Given the description of an element on the screen output the (x, y) to click on. 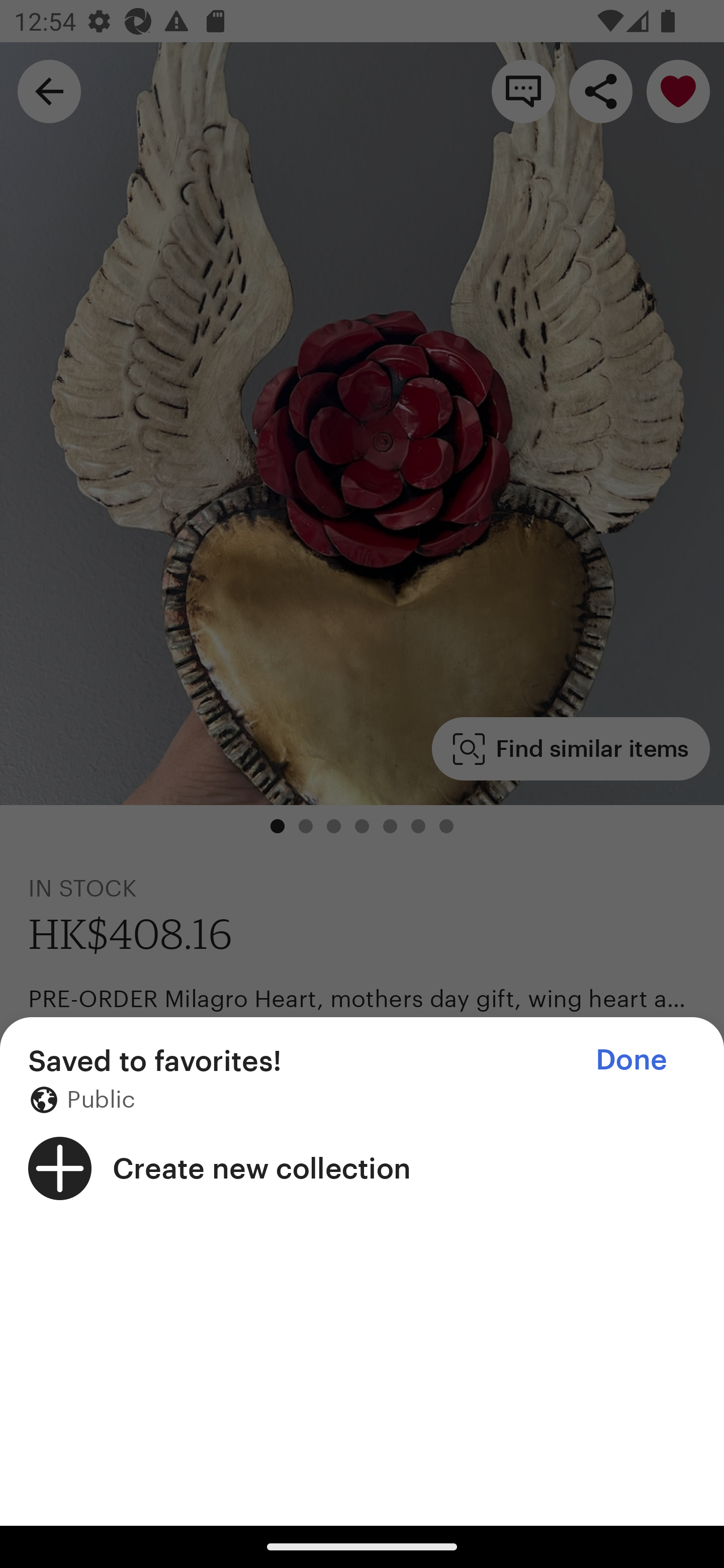
Done (630, 1059)
Create new collection (361, 1167)
